Given the description of an element on the screen output the (x, y) to click on. 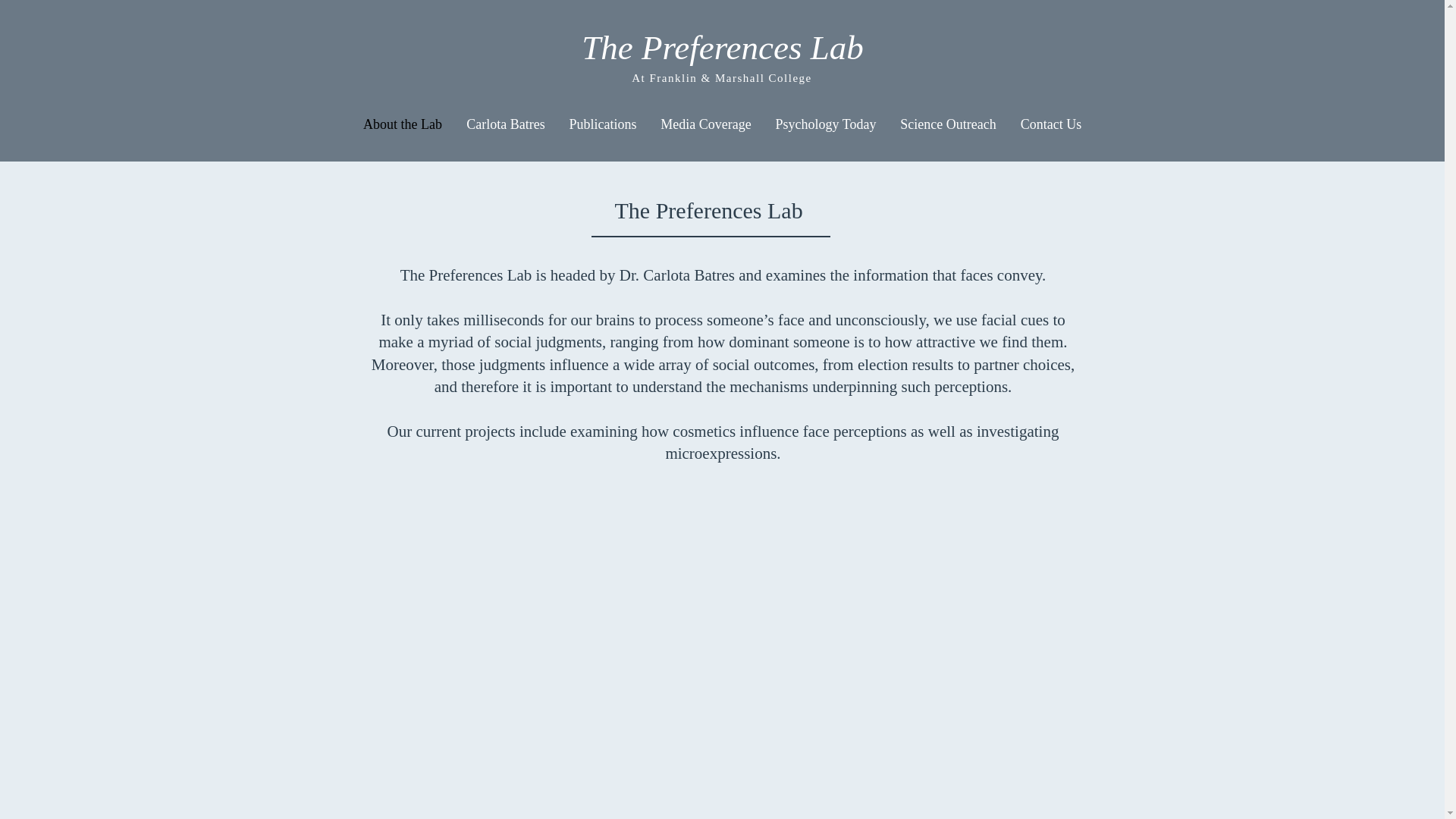
Media Coverage (705, 124)
About the Lab (402, 124)
The Preferences Lab (721, 47)
Publications (601, 124)
Science Outreach (948, 124)
Psychology Today (825, 124)
Carlota Batres (505, 124)
Contact Us (1051, 124)
